Given the description of an element on the screen output the (x, y) to click on. 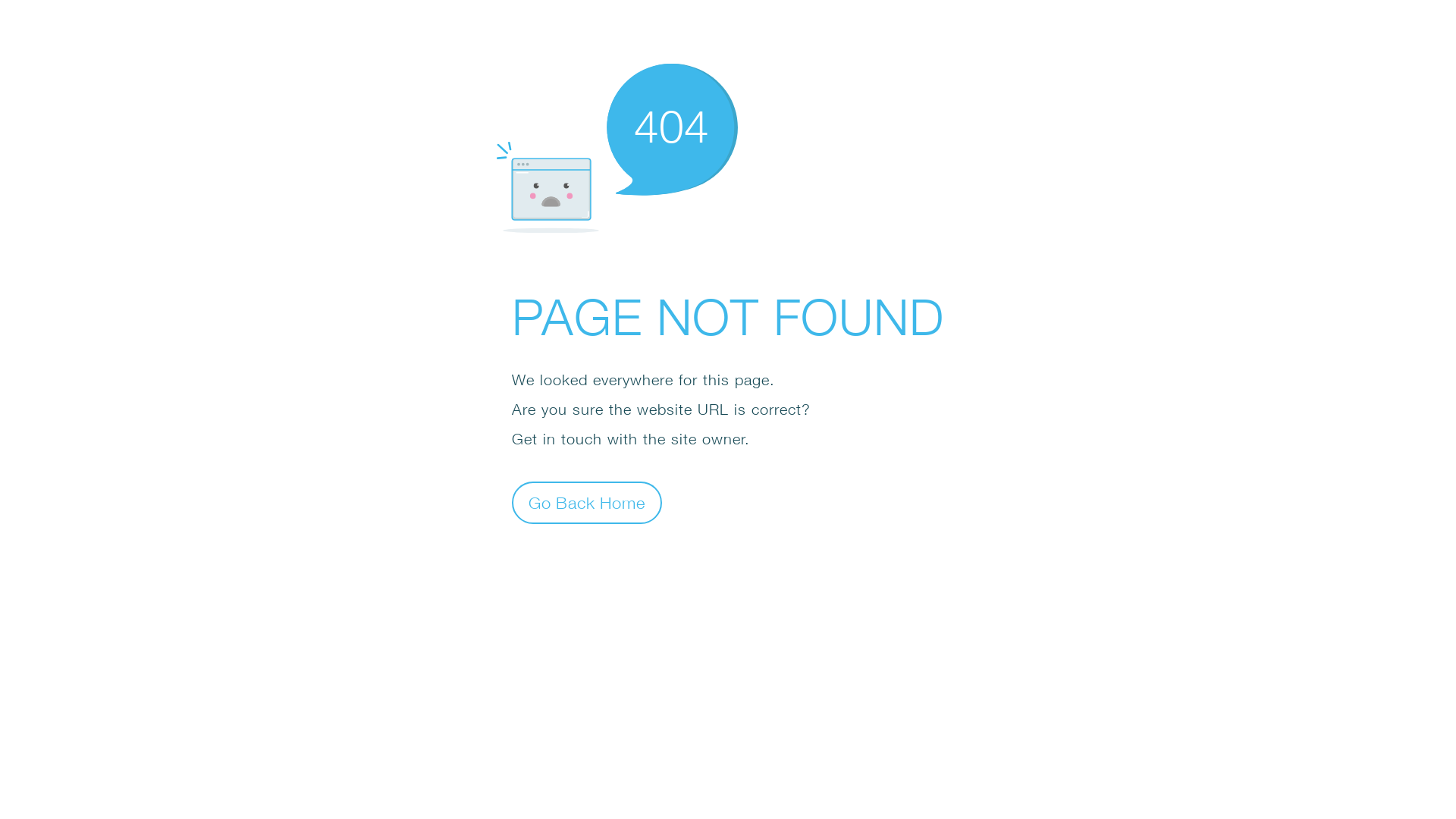
Go Back Home Element type: text (586, 502)
